Given the description of an element on the screen output the (x, y) to click on. 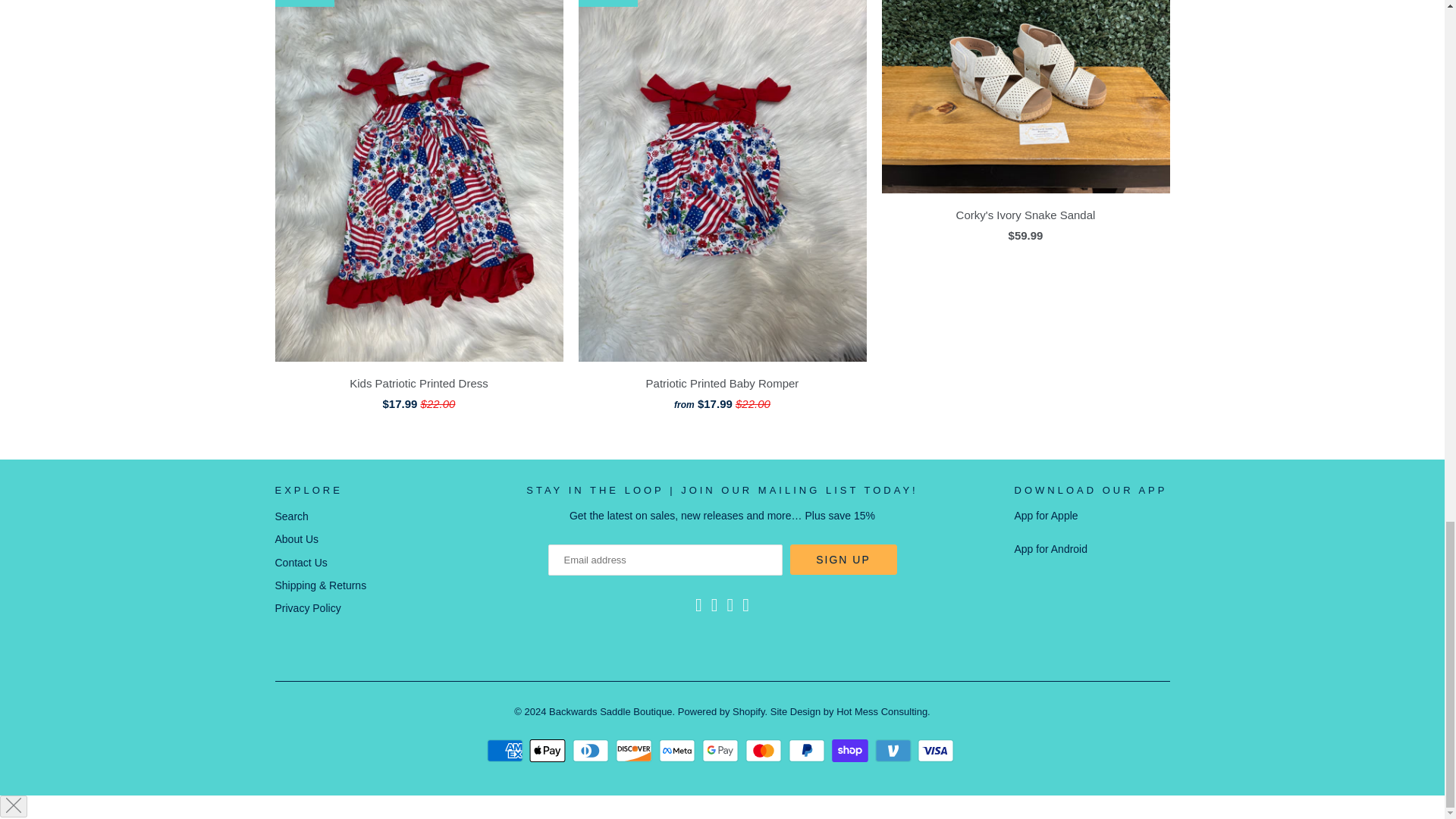
Meta Pay (678, 750)
Visa (937, 750)
Google Pay (721, 750)
Sign Up (843, 559)
Venmo (895, 750)
Shop Pay (851, 750)
Diners Club (592, 750)
American Express (506, 750)
Mastercard (765, 750)
PayPal (808, 750)
Apple Pay (549, 750)
Discover (635, 750)
